Given the description of an element on the screen output the (x, y) to click on. 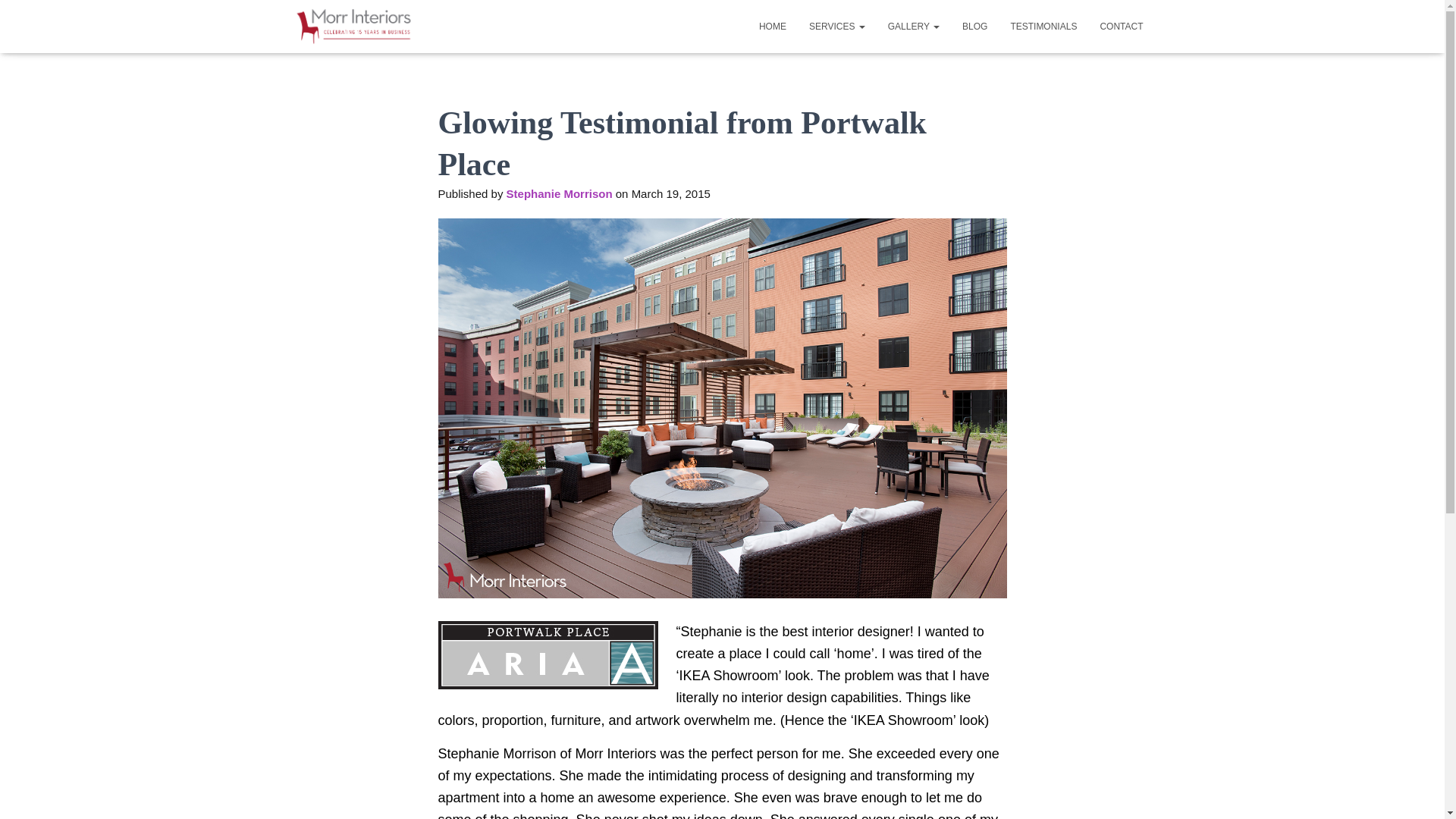
Blog (974, 26)
Testimonials (1042, 26)
Home (772, 26)
SERVICES (836, 26)
Services (836, 26)
GALLERY (913, 26)
TESTIMONIALS (1042, 26)
HOME (772, 26)
Gallery (913, 26)
CONTACT (1120, 26)
BLOG (974, 26)
Stephanie Morrison (559, 193)
Morr Interiors (354, 26)
